Given the description of an element on the screen output the (x, y) to click on. 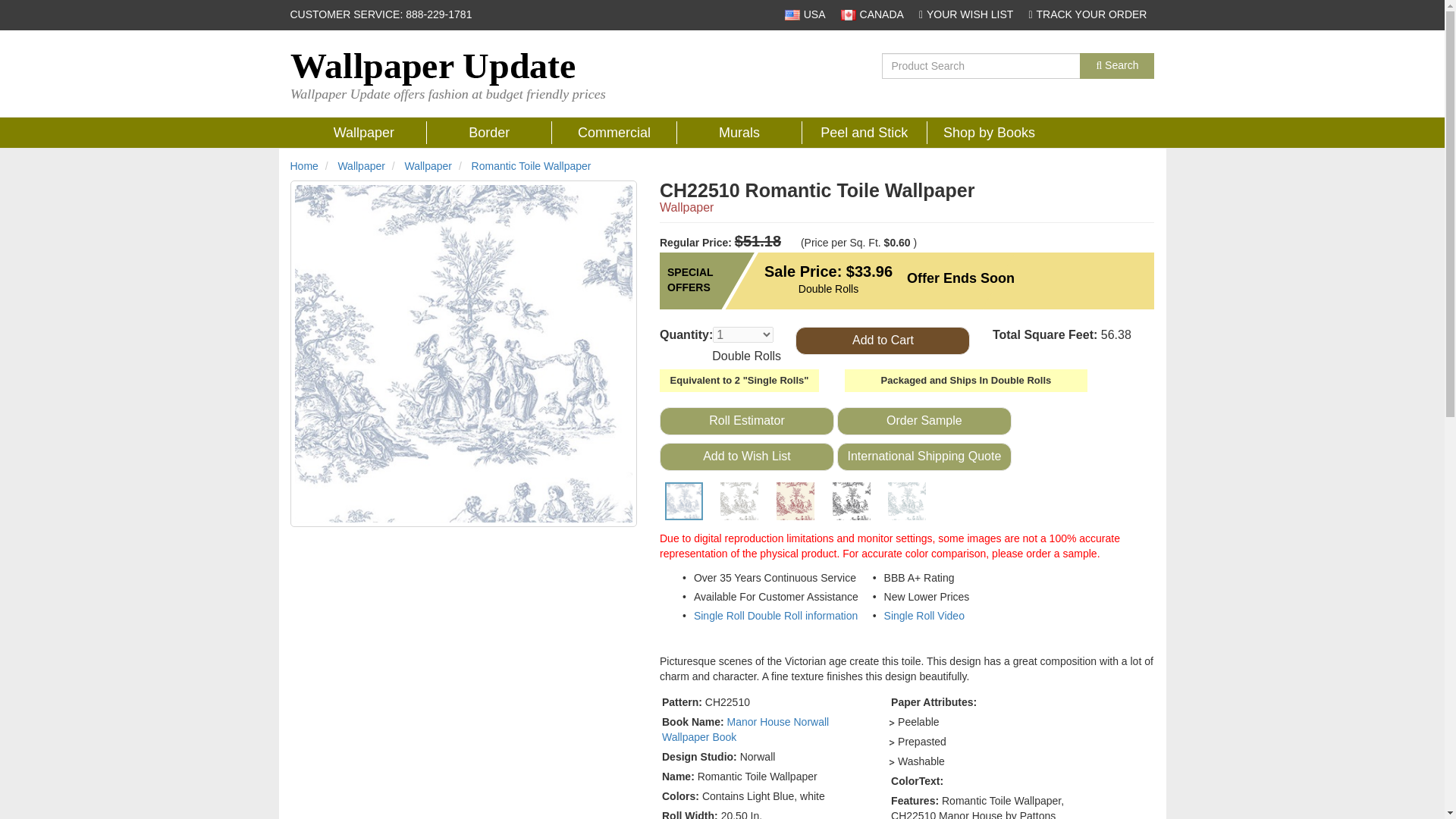
Wallpaper Update (303, 165)
YOUR WISH LIST (965, 14)
Home (303, 165)
Add to Cart (881, 340)
Murals (739, 132)
wallpaper rollage calculator (746, 420)
Single Roll Double Roll information (775, 615)
Wallpaper (363, 132)
International Shipping Quote (924, 456)
Commercial Wallcovering (614, 132)
 Shop By Book (989, 132)
Order Sample (924, 420)
Wallpaper (363, 132)
Wallpaper (428, 165)
Search (1117, 65)
